Given the description of an element on the screen output the (x, y) to click on. 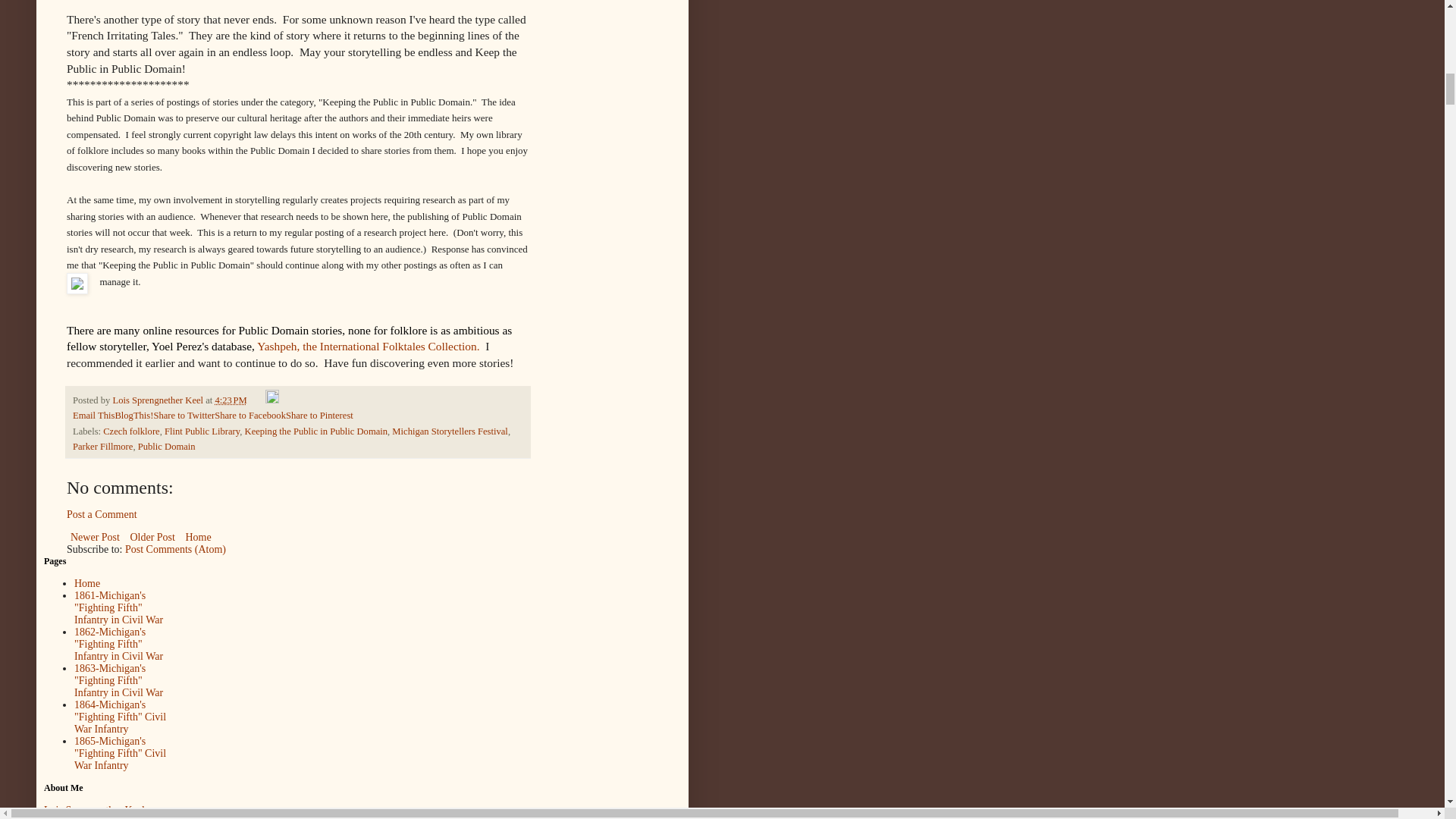
permanent link (231, 399)
Newer Post (94, 537)
author profile (158, 399)
Czech folklore (130, 430)
Parker Fillmore (102, 446)
Share to Twitter (183, 415)
Home (197, 537)
Email This (93, 415)
Share to Pinterest (319, 415)
Share to Pinterest (319, 415)
